Given the description of an element on the screen output the (x, y) to click on. 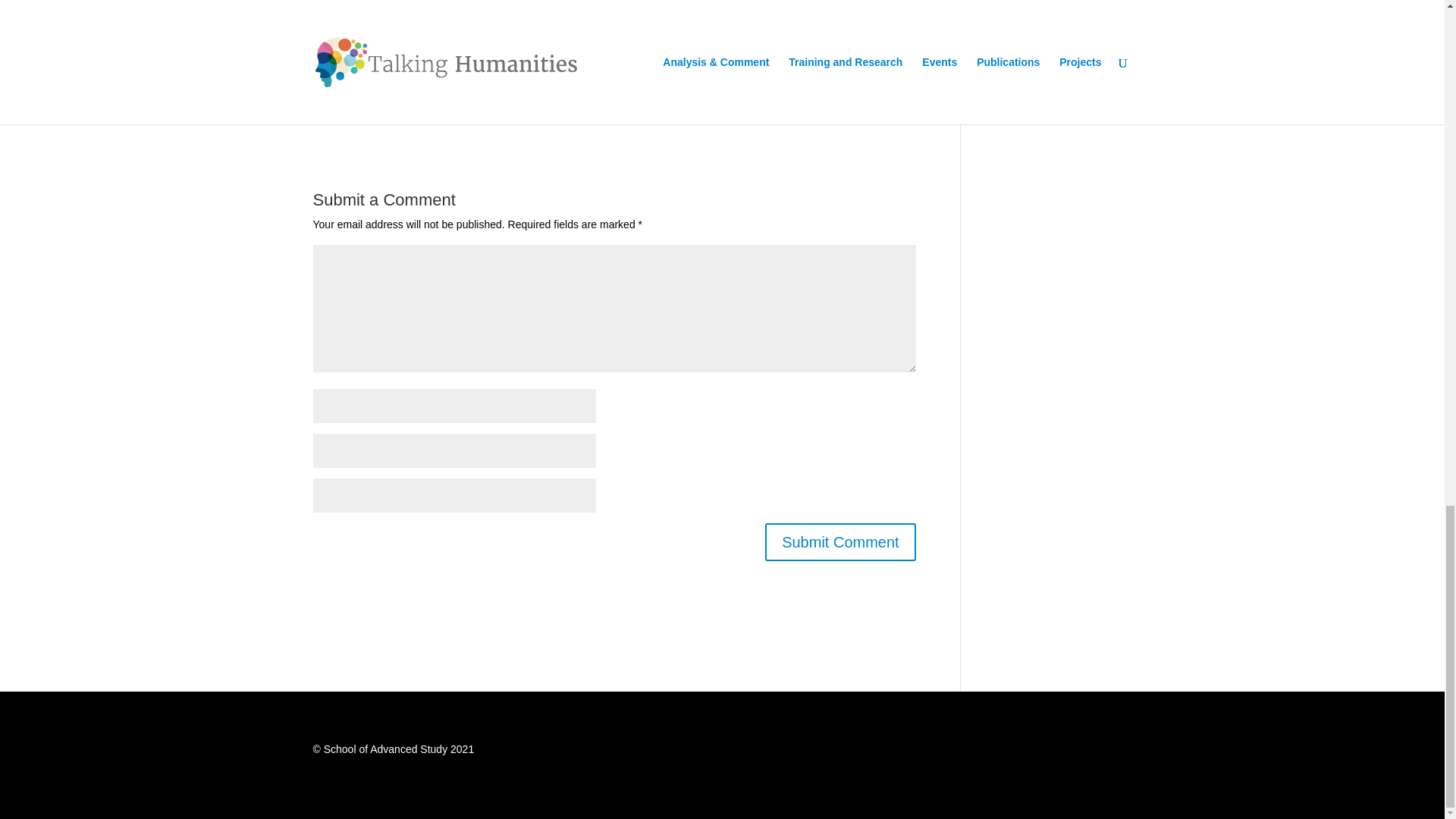
Submit Comment (840, 542)
H G Wells at 150: hope and fear (614, 94)
Submit Comment (840, 542)
